Given the description of an element on the screen output the (x, y) to click on. 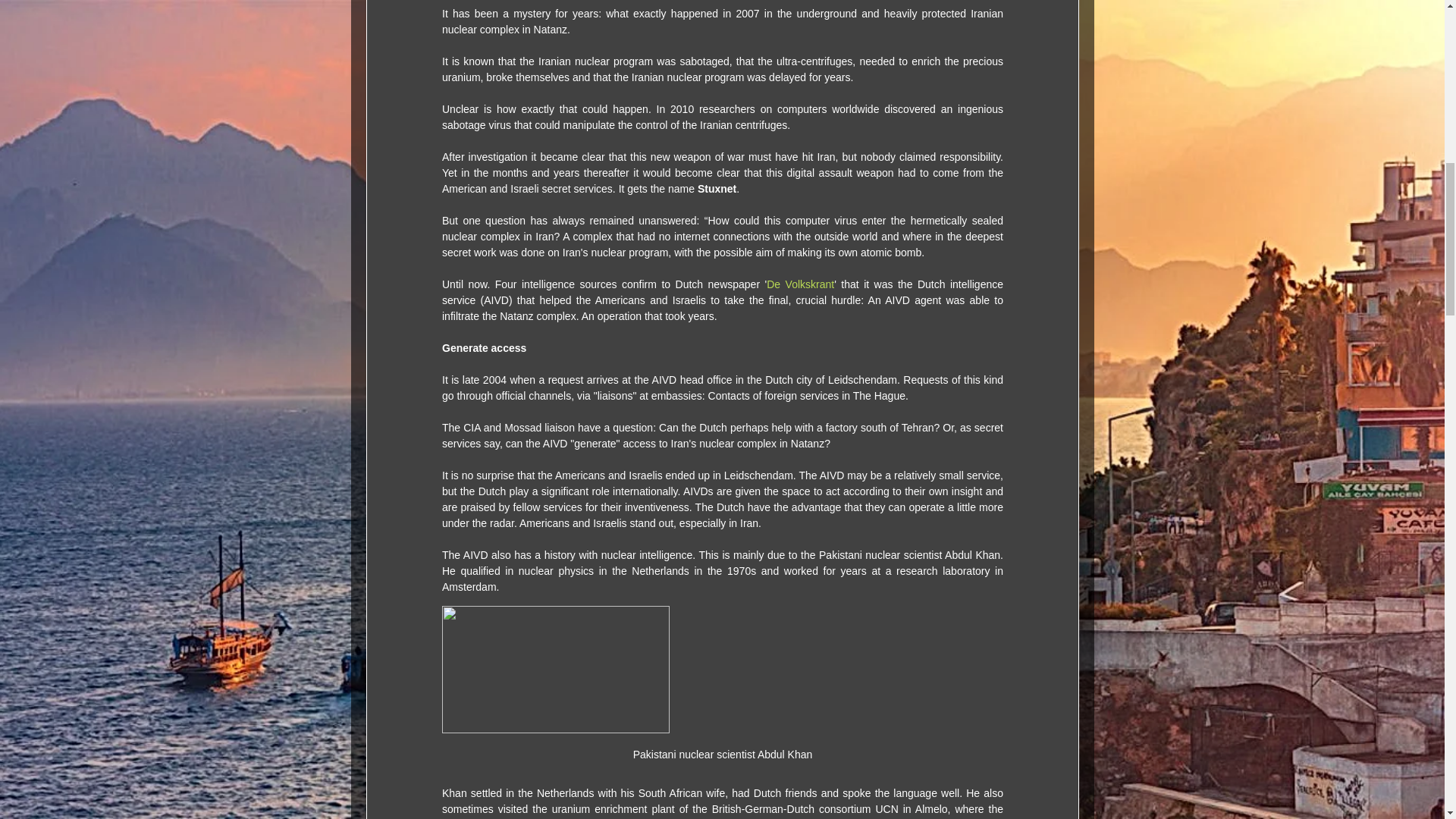
De Volkskrant (800, 284)
